Given the description of an element on the screen output the (x, y) to click on. 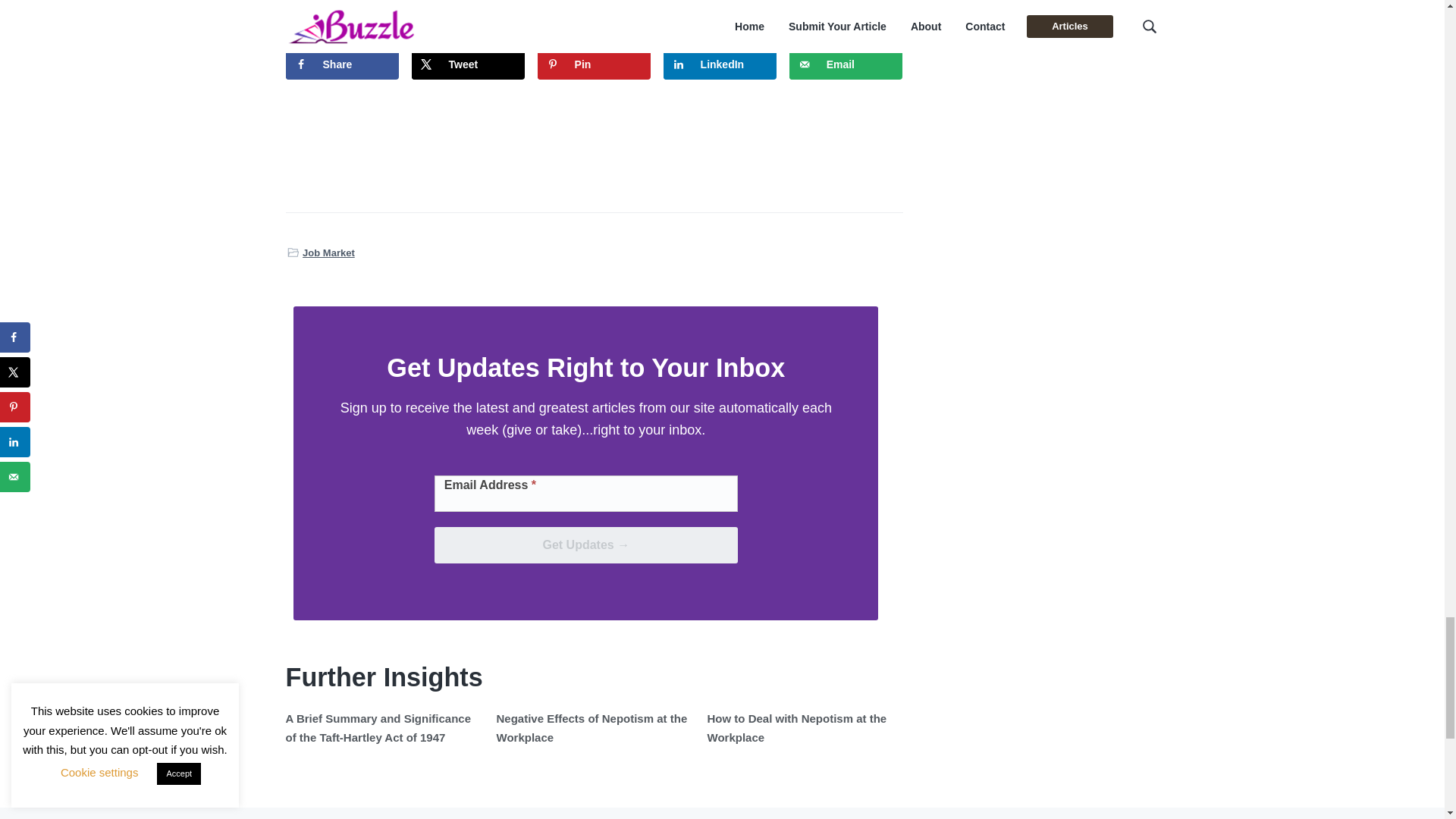
Send over email (845, 64)
Save to Pinterest (593, 64)
Email (845, 64)
Negative Effects of Nepotism at the Workplace (591, 726)
Share on X (468, 64)
Share on Facebook (341, 64)
How to Deal with Nepotism at the Workplace (796, 726)
LinkedIn (720, 64)
